Given the description of an element on the screen output the (x, y) to click on. 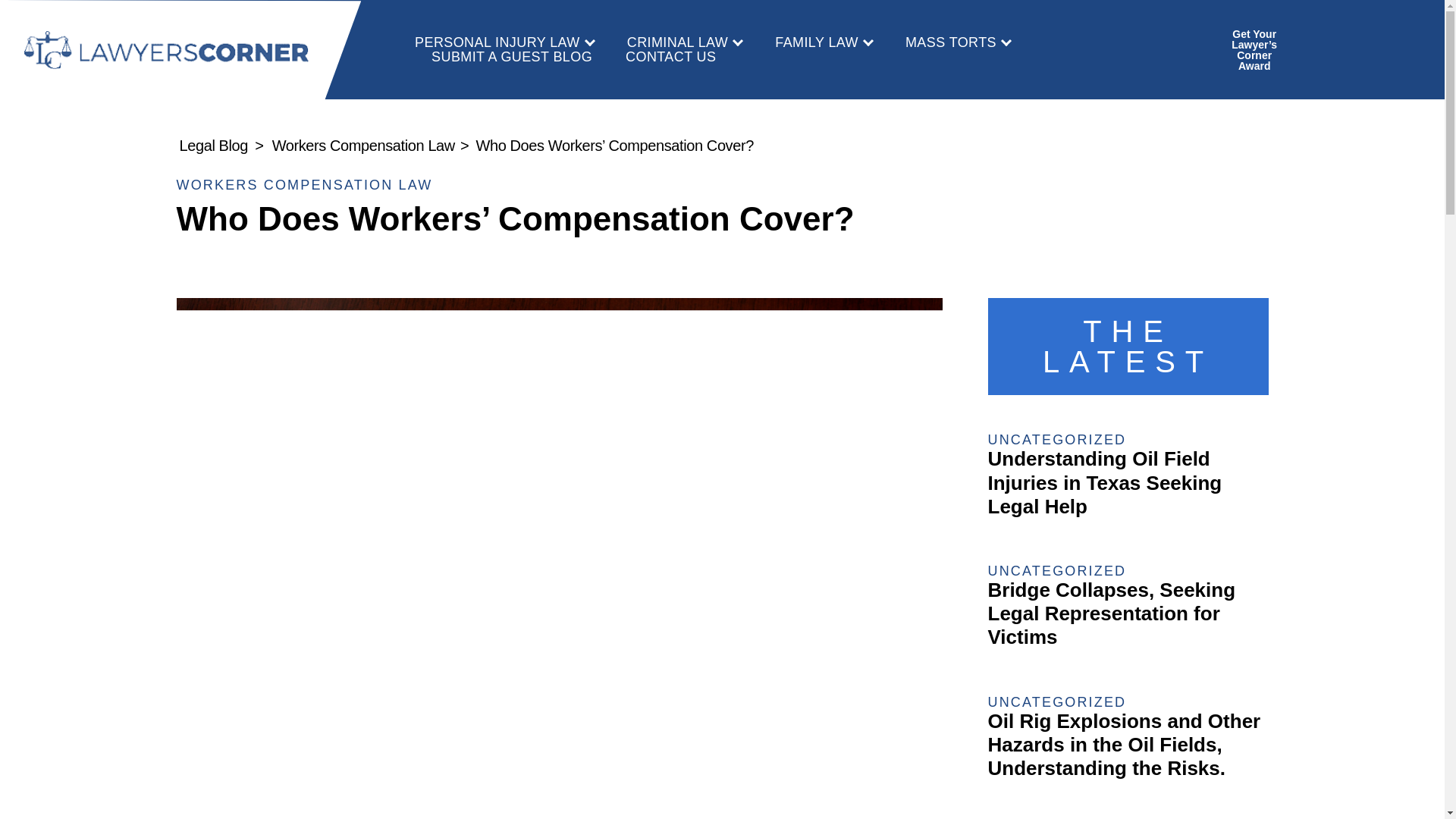
CONTACT US (671, 56)
tw (1366, 49)
SUBMIT A GUEST BLOG (511, 56)
MASS TORTS (957, 42)
PERSONAL INJURY LAW (504, 42)
Go to Blog. (212, 145)
FAMILY LAW (823, 42)
CRIMINAL LAW (684, 42)
